Given the description of an element on the screen output the (x, y) to click on. 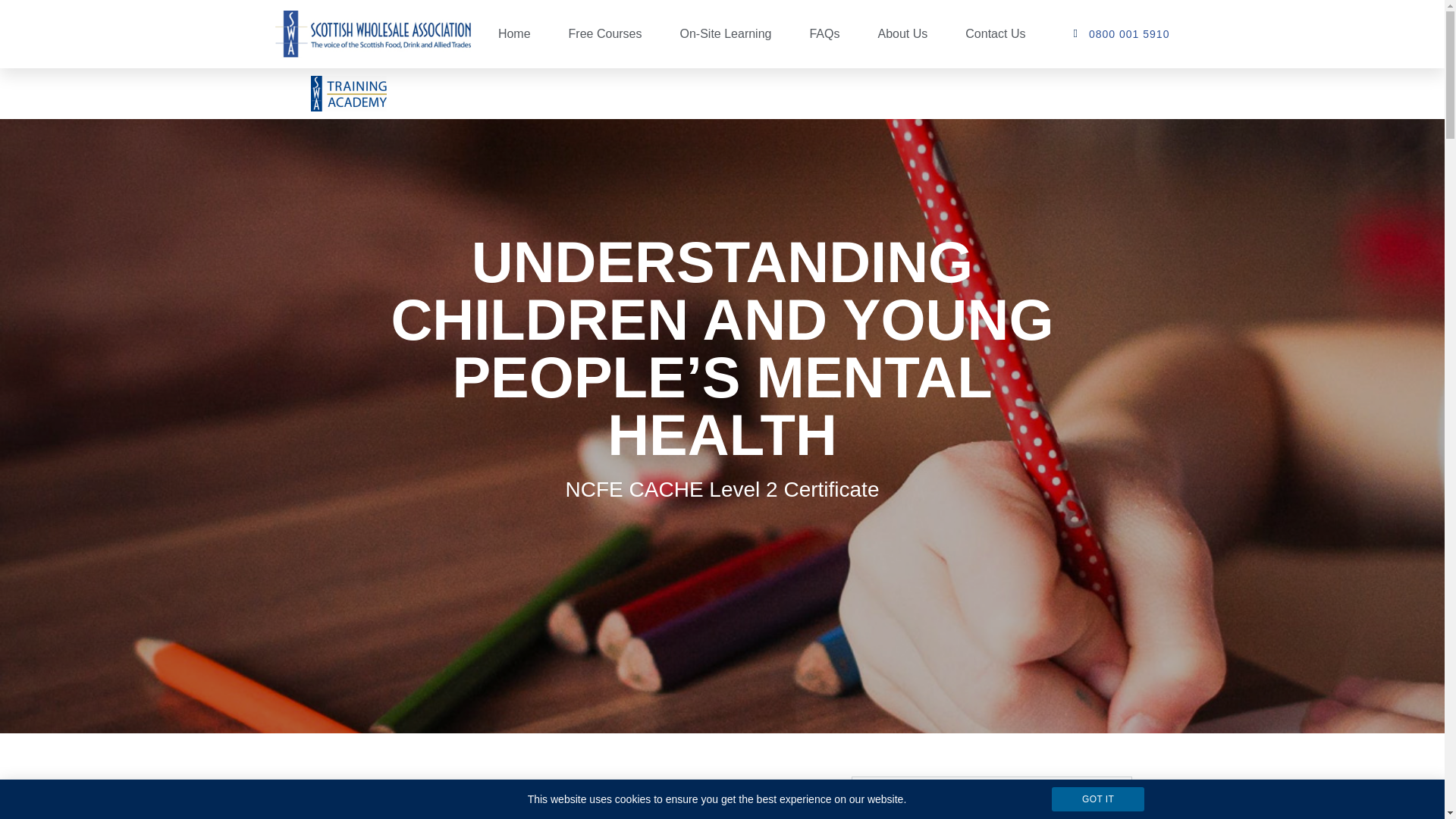
About Us (902, 2)
Course delivery (939, 795)
FAQs (824, 2)
Free Courses (605, 1)
Home (514, 0)
On-Site Learning (725, 2)
Contact Us (995, 3)
